Given the description of an element on the screen output the (x, y) to click on. 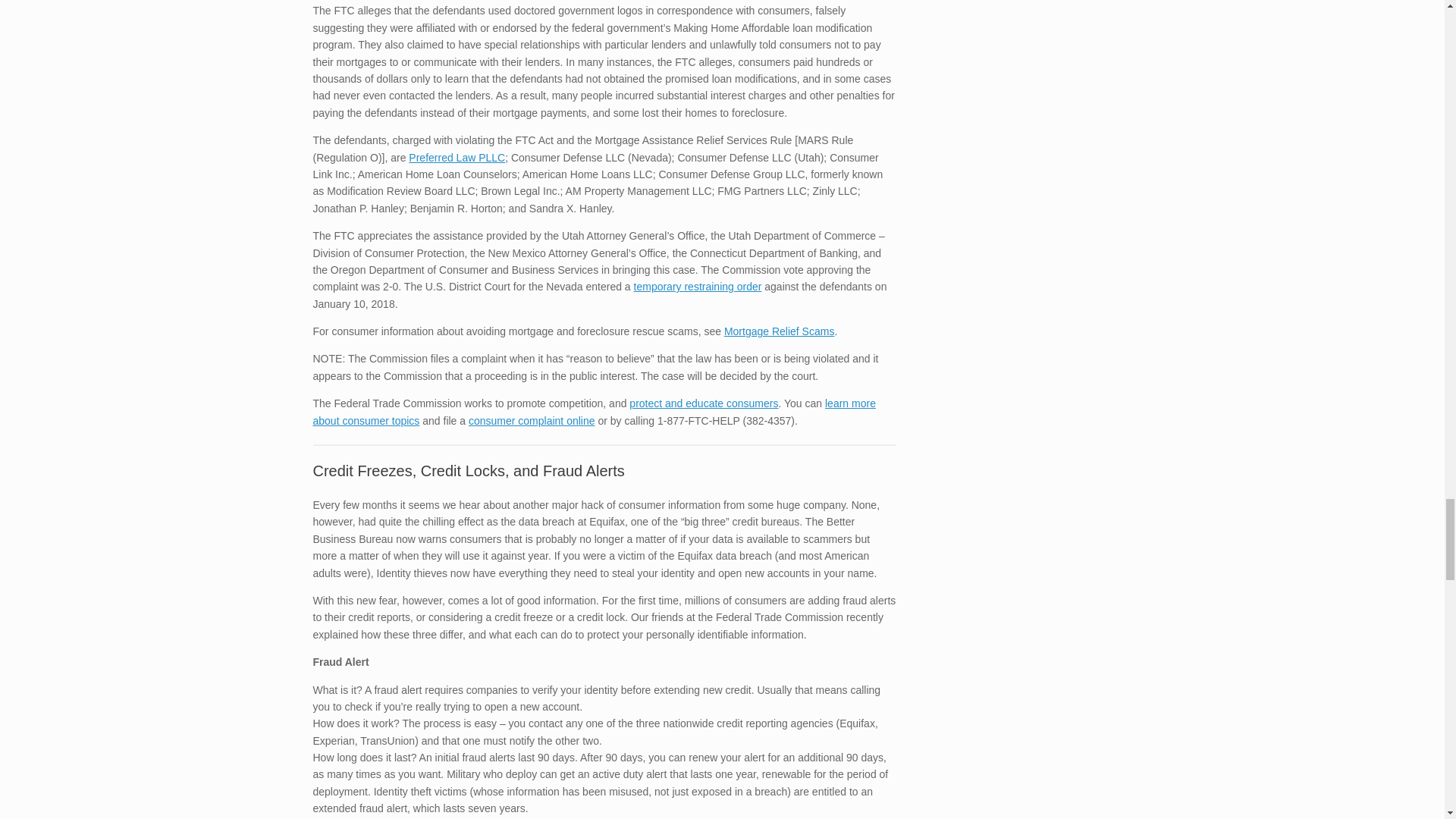
temporary restraining order (697, 286)
Mortgage Relief Scams (778, 331)
Credit Freezes, Credit Locks, and Fraud Alerts (468, 470)
consumer complaint online (531, 420)
protect and educate consumers (702, 403)
learn more about consumer topics (594, 411)
Permalink to Credit Freezes, Credit Locks, and Fraud Alerts (468, 470)
Preferred Law PLLC (457, 157)
